Given the description of an element on the screen output the (x, y) to click on. 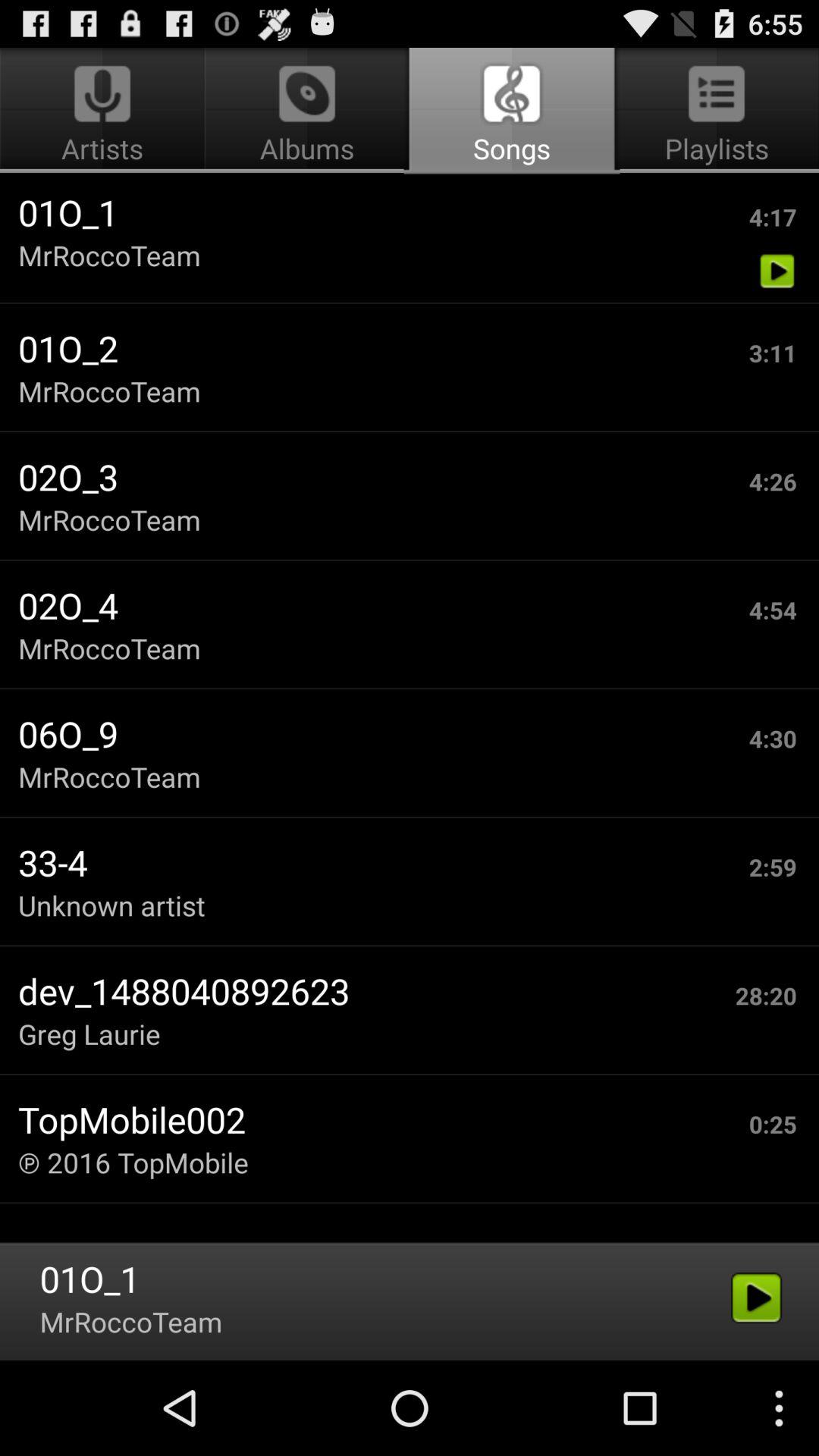
jump to artists (105, 111)
